Given the description of an element on the screen output the (x, y) to click on. 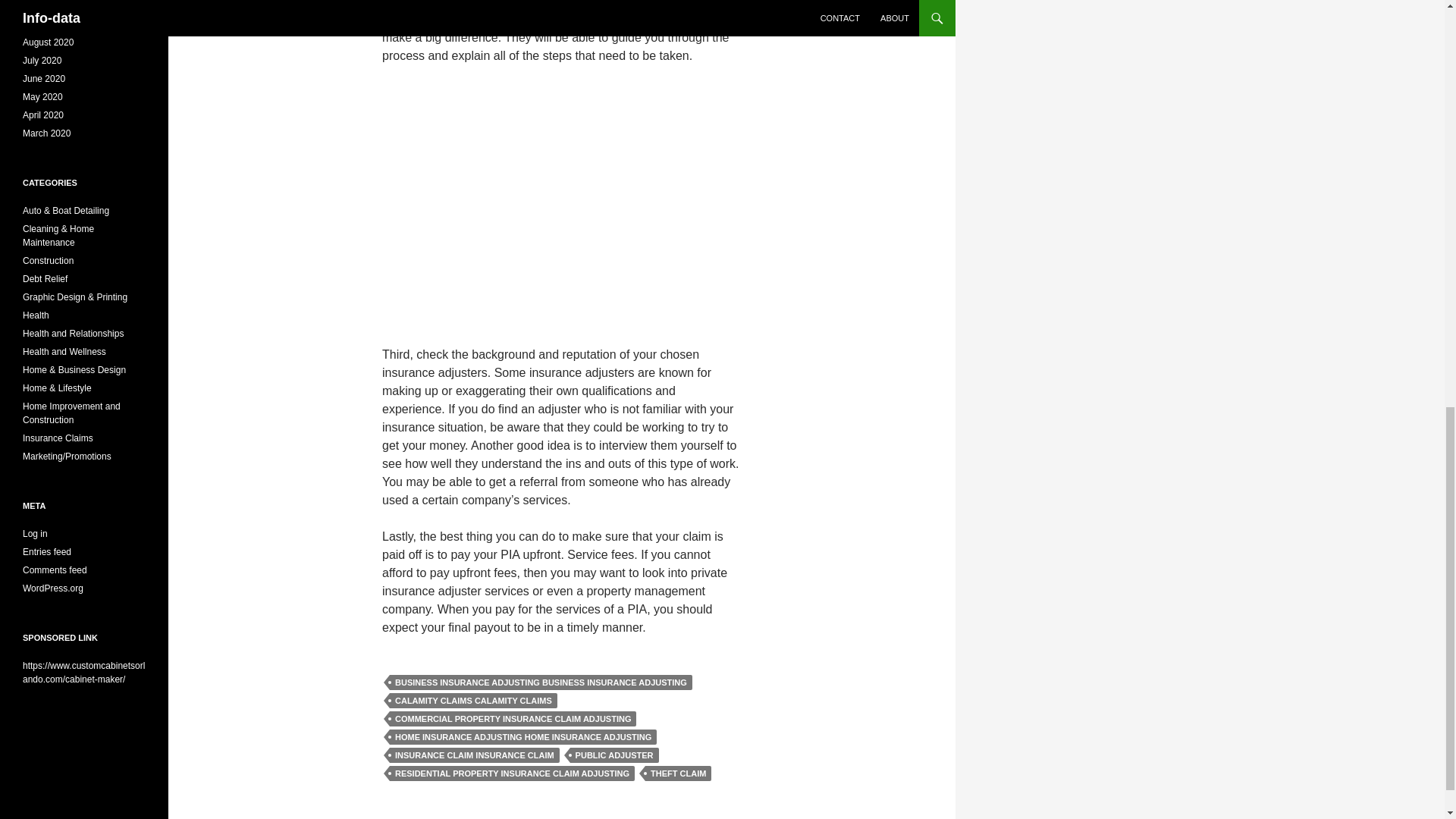
INSURANCE CLAIM INSURANCE CLAIM (474, 754)
RESIDENTIAL PROPERTY INSURANCE CLAIM ADJUSTING (512, 773)
CALAMITY CLAIMS CALAMITY CLAIMS (473, 700)
PUBLIC ADJUSTER (614, 754)
COMMERCIAL PROPERTY INSURANCE CLAIM ADJUSTING (513, 718)
BUSINESS INSURANCE ADJUSTING BUSINESS INSURANCE ADJUSTING (541, 682)
HOME INSURANCE ADJUSTING HOME INSURANCE ADJUSTING (523, 736)
THEFT CLAIM (678, 773)
